Given the description of an element on the screen output the (x, y) to click on. 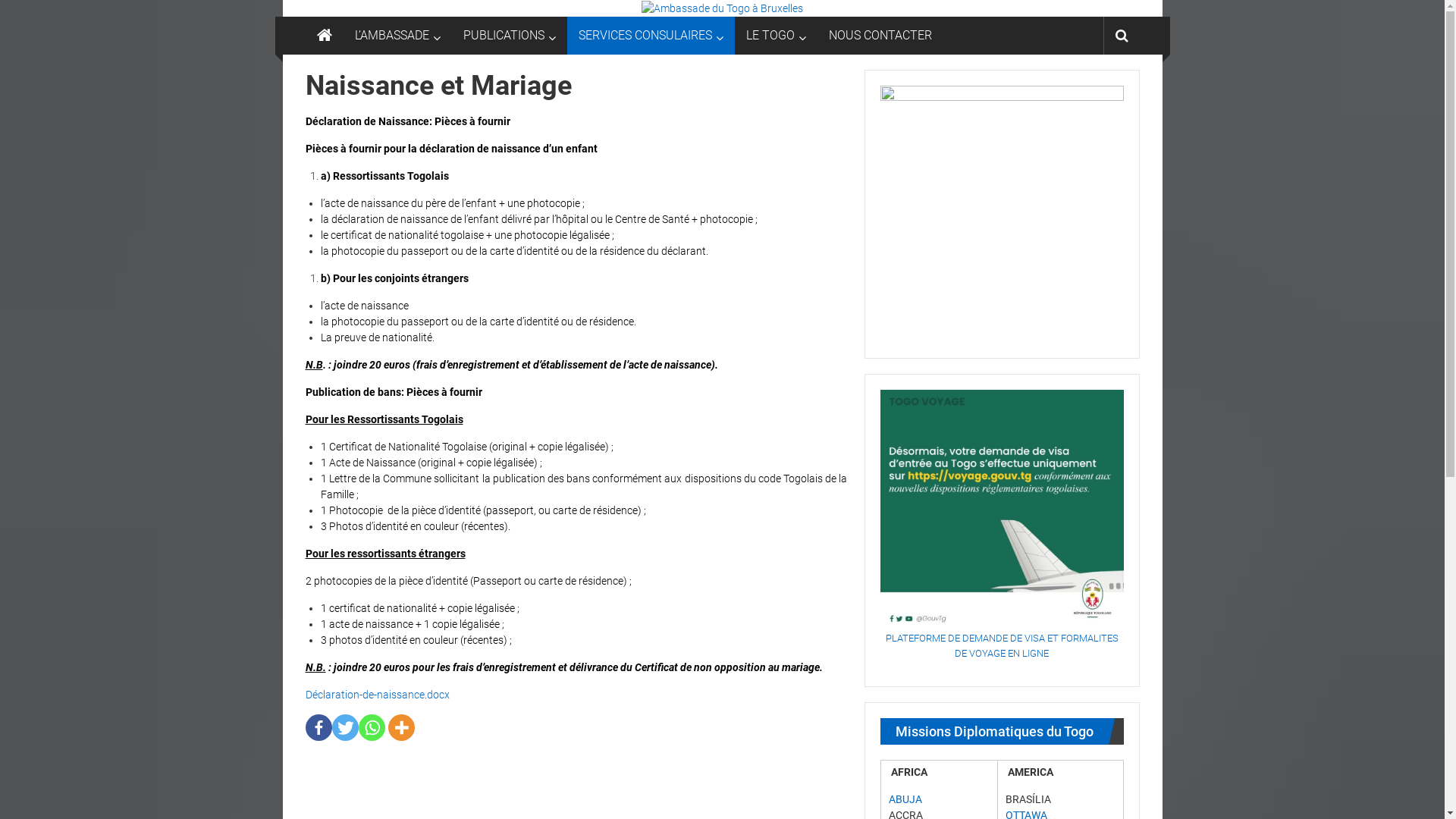
LE TOGO Element type: text (770, 35)
PUBLICATIONS Element type: text (502, 35)
ABUJA Element type: text (905, 799)
SERVICES CONSULAIRES Element type: text (644, 35)
Whatsapp Element type: hover (370, 727)
NOUS CONTACTER Element type: text (879, 35)
Twitter Element type: hover (345, 727)
Facebook Element type: hover (317, 727)
More Element type: hover (401, 727)
